Given the description of an element on the screen output the (x, y) to click on. 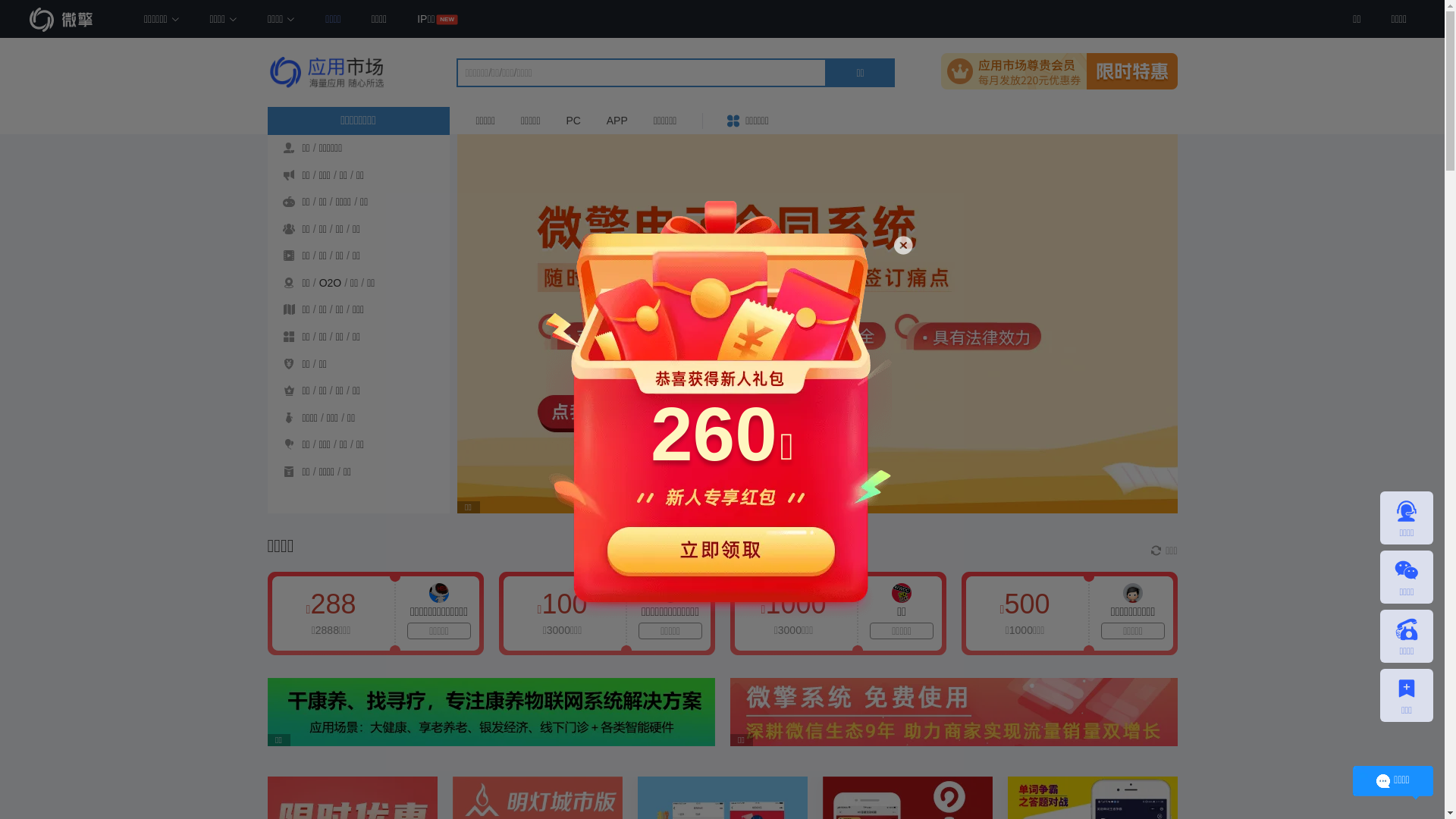
APP Element type: text (617, 120)
O2O Element type: text (330, 282)
PC Element type: text (572, 120)
